Given the description of an element on the screen output the (x, y) to click on. 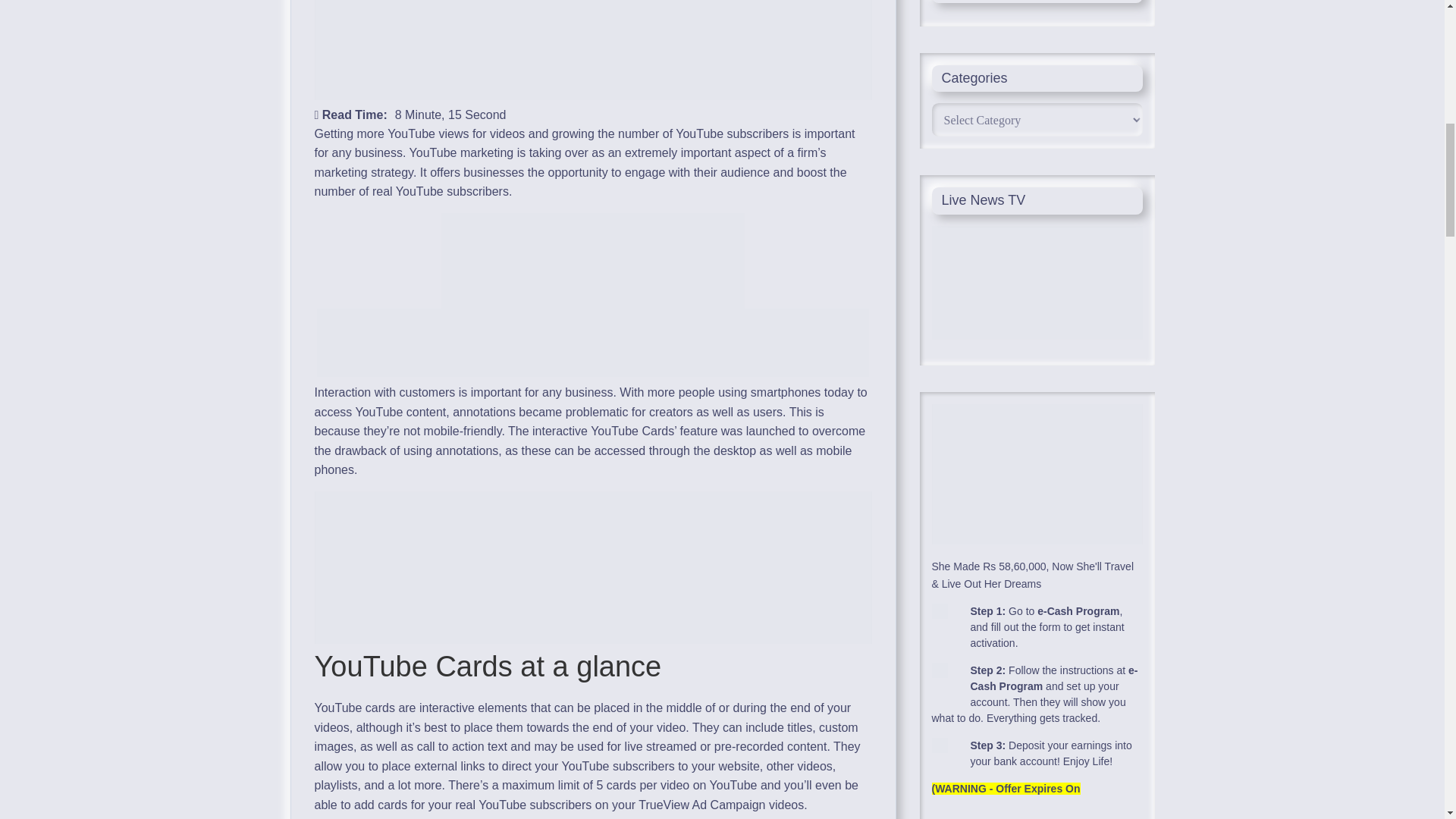
Everve - Social Media Exchange on steroids by Everve (593, 317)
